Given the description of an element on the screen output the (x, y) to click on. 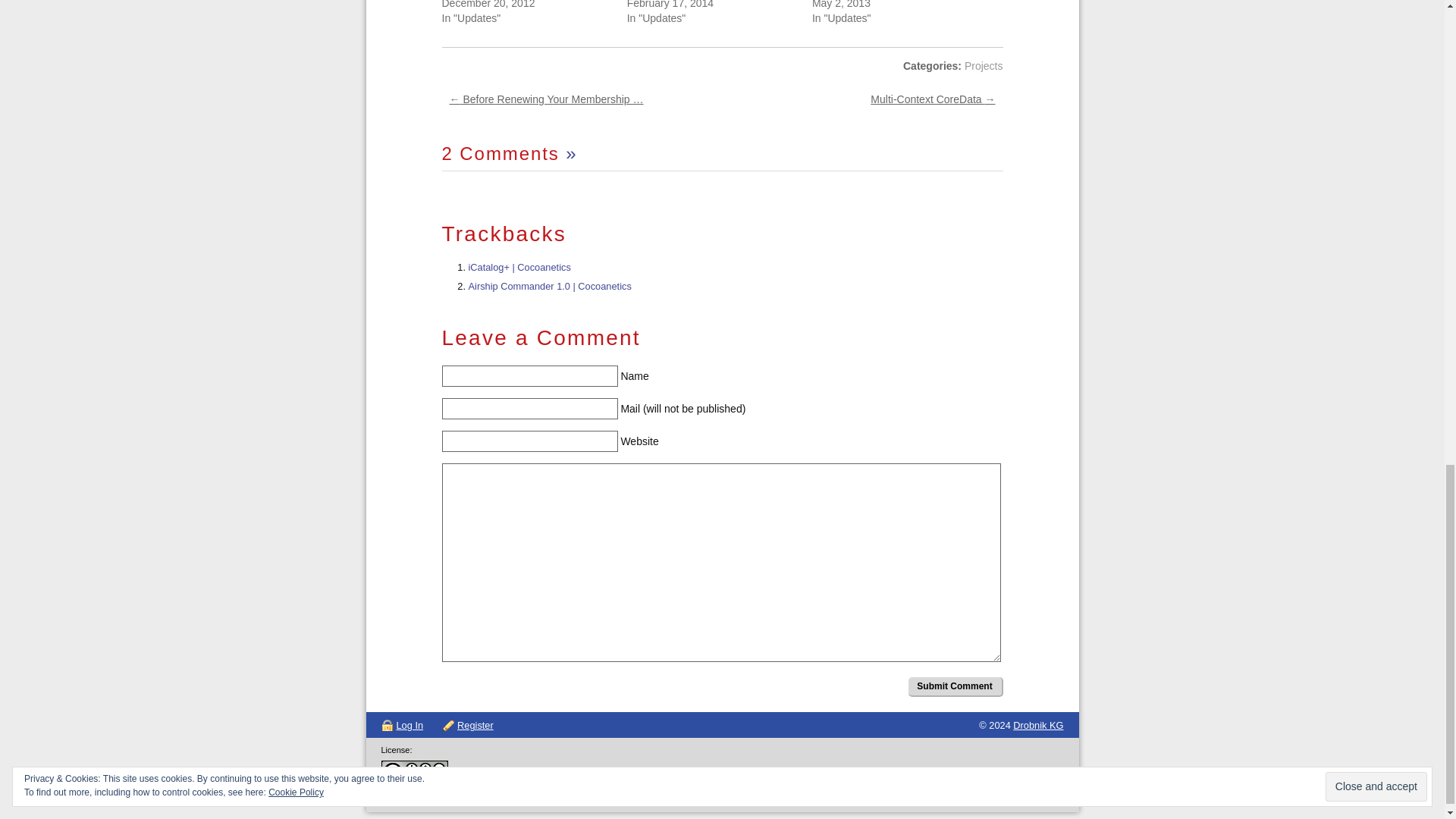
Projects (983, 65)
Log In (401, 725)
Submit Comment (955, 686)
Submit Comment (955, 686)
Register (467, 725)
Drobnik KG (1037, 725)
